Given the description of an element on the screen output the (x, y) to click on. 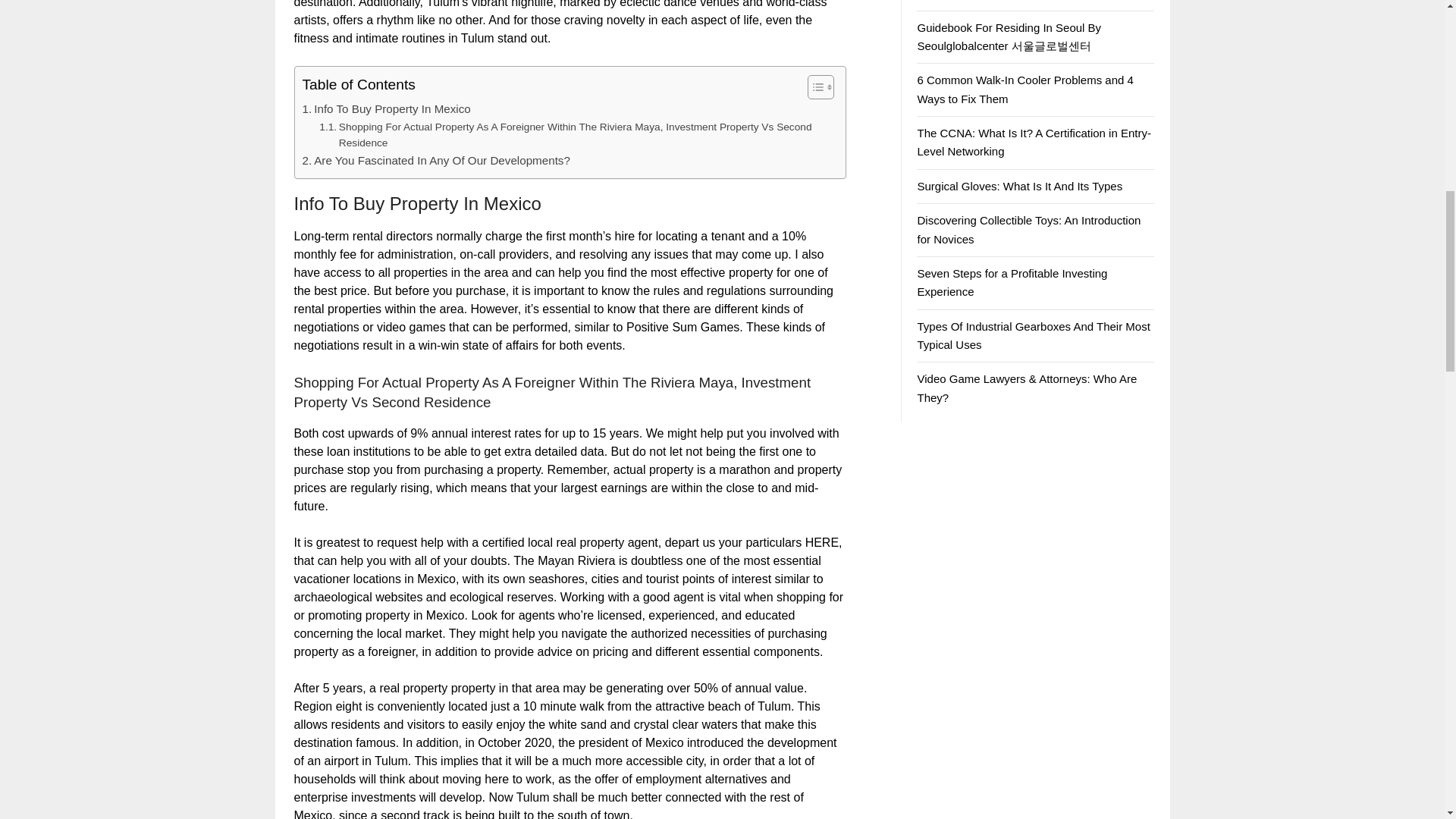
Seven Steps for a Profitable Investing Experience (1011, 282)
Are You Fascinated In Any Of Our Developments? (435, 160)
Surgical Gloves: What Is It And Its Types (1019, 185)
Discovering Collectible Toys: An Introduction for Novices (1028, 228)
Types Of Industrial Gearboxes And Their Most Typical Uses (1033, 335)
Are You Fascinated In Any Of Our Developments? (435, 160)
6 Common Walk-In Cooler Problems and 4 Ways to Fix Them (1024, 88)
Info To Buy Property In Mexico (385, 108)
Info To Buy Property In Mexico (385, 108)
